Given the description of an element on the screen output the (x, y) to click on. 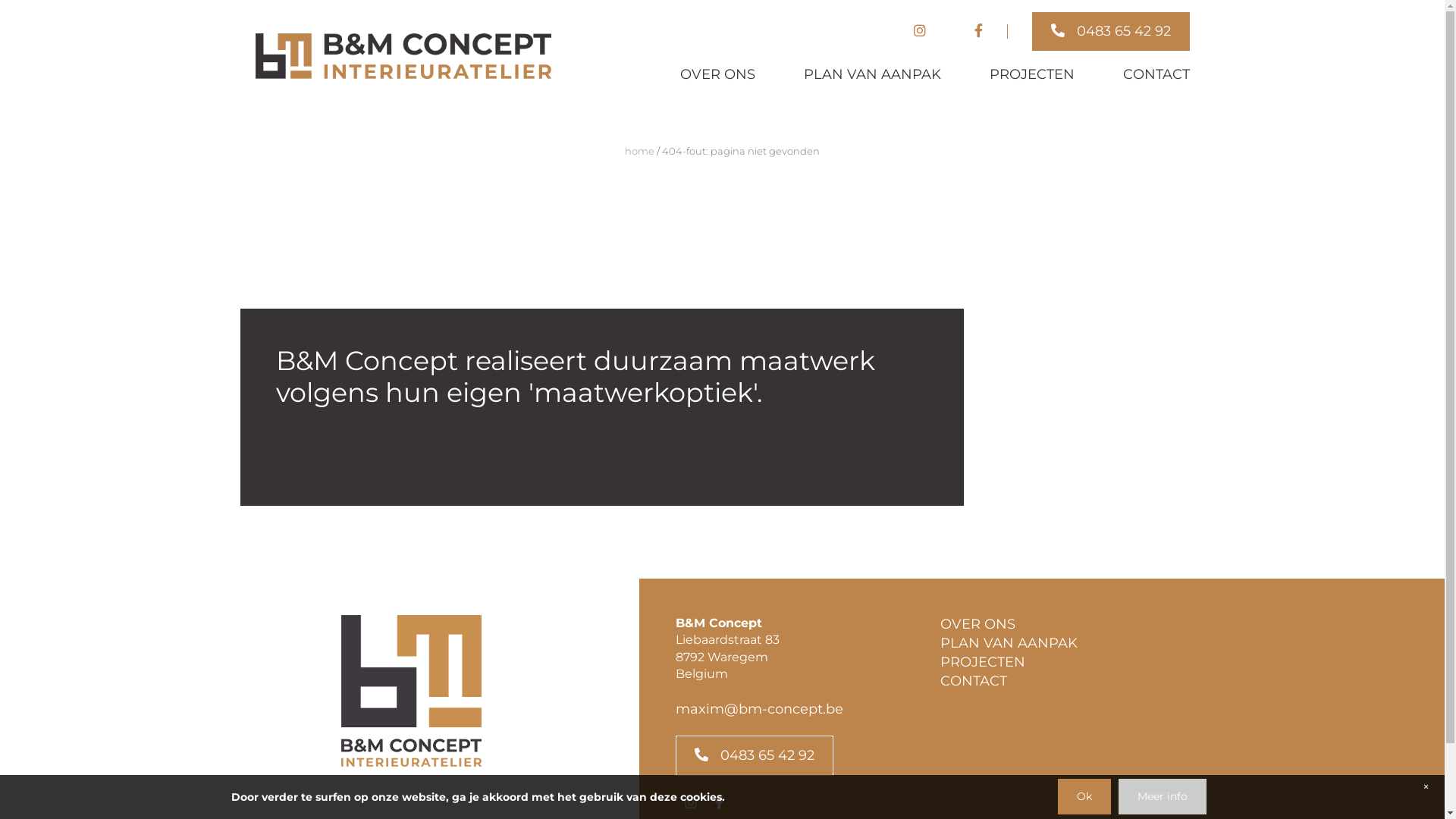
PROJECTEN Element type: text (1031, 74)
0483 65 42 92 Element type: text (753, 755)
CONTACT Element type: text (1155, 74)
OVER ONS Element type: text (977, 623)
CONTACT Element type: text (973, 680)
logo Element type: hover (411, 690)
Meer info Element type: text (1161, 796)
maxim@bm-concept.be Element type: text (758, 708)
Ok Element type: text (1083, 796)
PROJECTEN Element type: text (982, 661)
0483 65 42 92 Element type: text (1110, 31)
logo Element type: hover (402, 55)
OVER ONS Element type: text (716, 74)
home Element type: text (639, 150)
PLAN VAN AANPAK Element type: text (872, 74)
PLAN VAN AANPAK Element type: text (1008, 642)
